Given the description of an element on the screen output the (x, y) to click on. 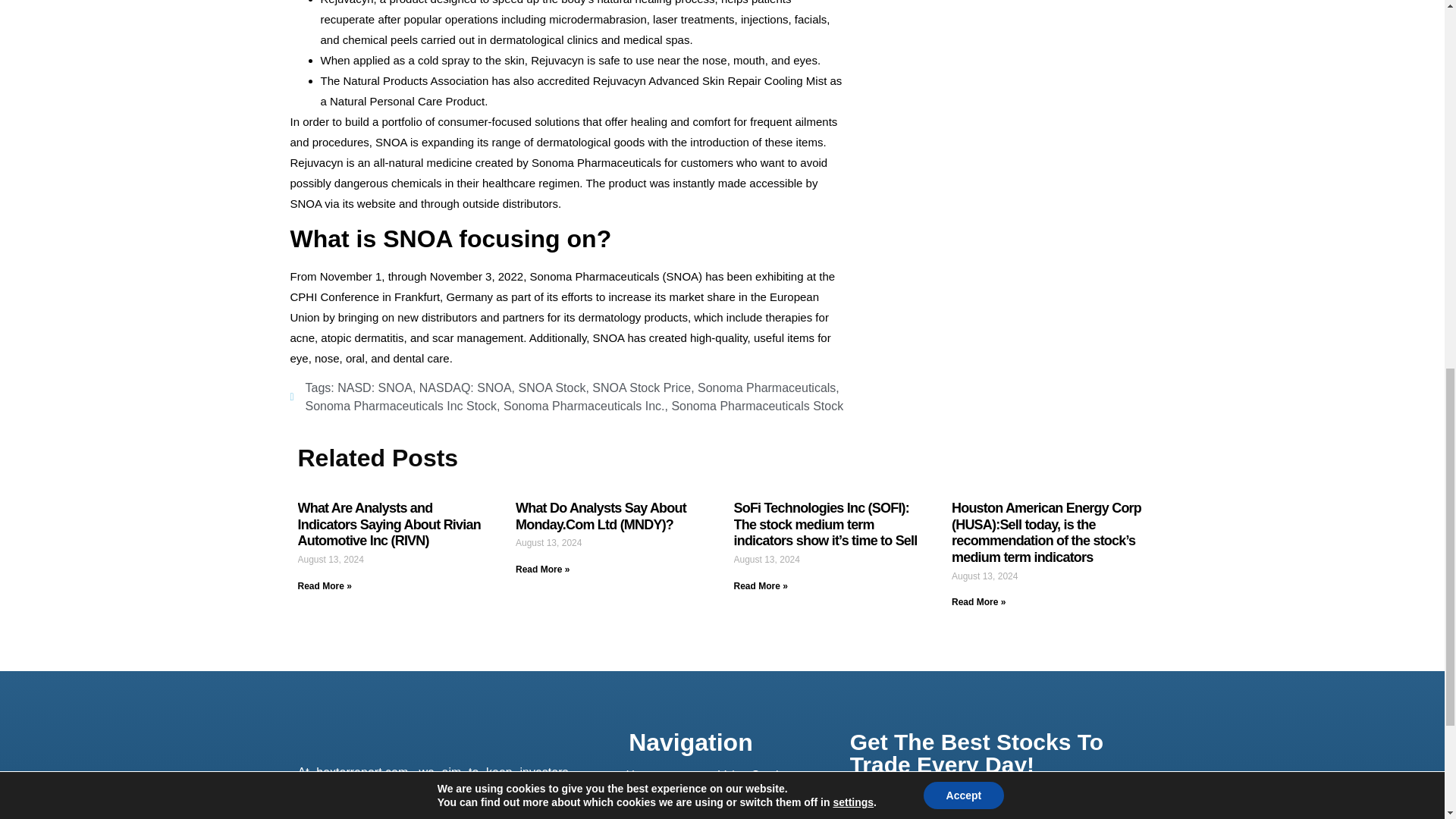
Sonoma Pharmaceuticals Inc. (584, 405)
NASDAQ: SNOA (465, 387)
Sonoma Pharmaceuticals Inc Stock (400, 405)
Sonoma Pharmaceuticals (766, 387)
SNOA Stock Price (641, 387)
NASD: SNOA (374, 387)
Sonoma Pharmaceuticals Stock (757, 405)
SNOA Stock (551, 387)
